Given the description of an element on the screen output the (x, y) to click on. 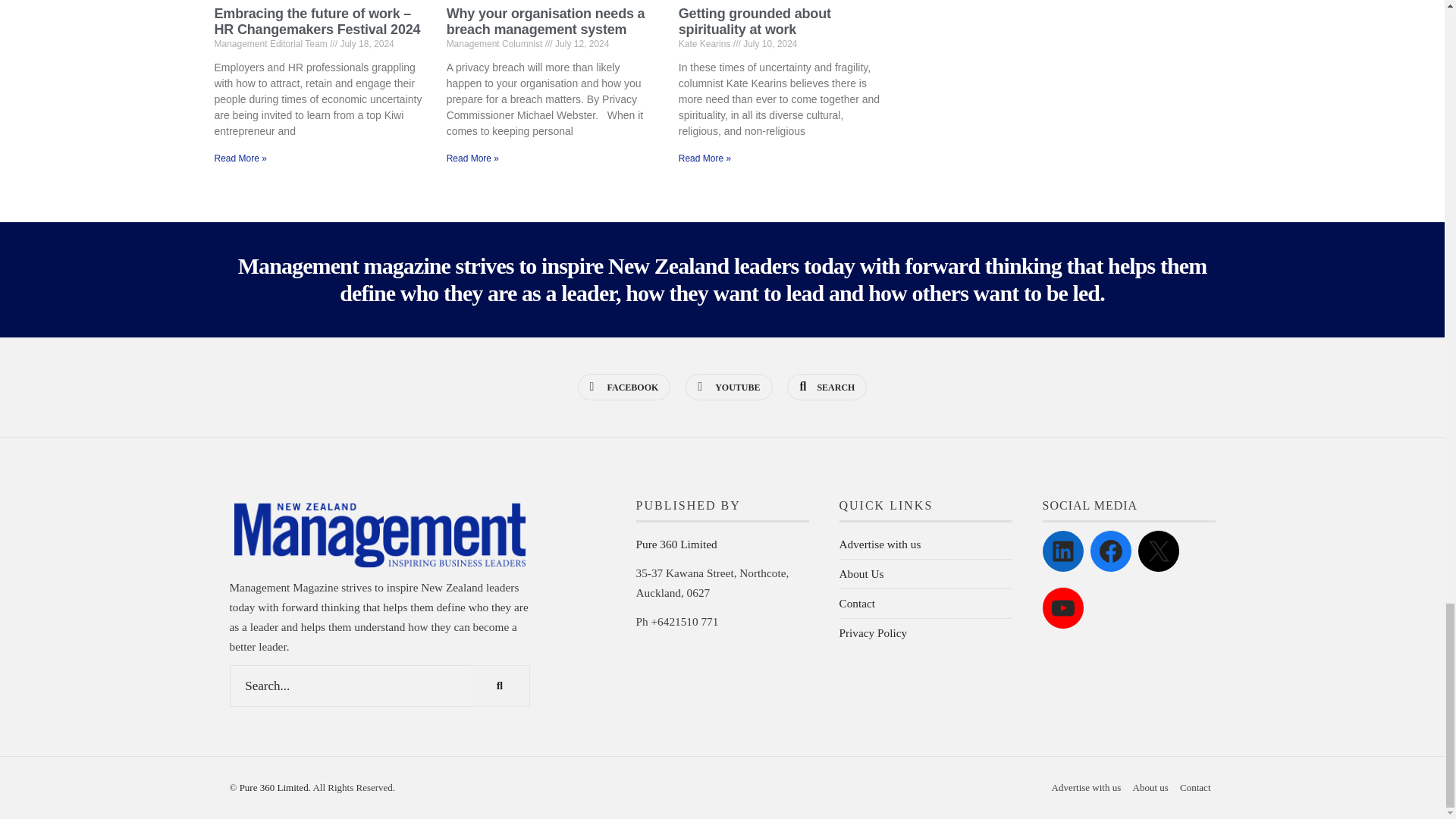
Search... (378, 685)
